Given the description of an element on the screen output the (x, y) to click on. 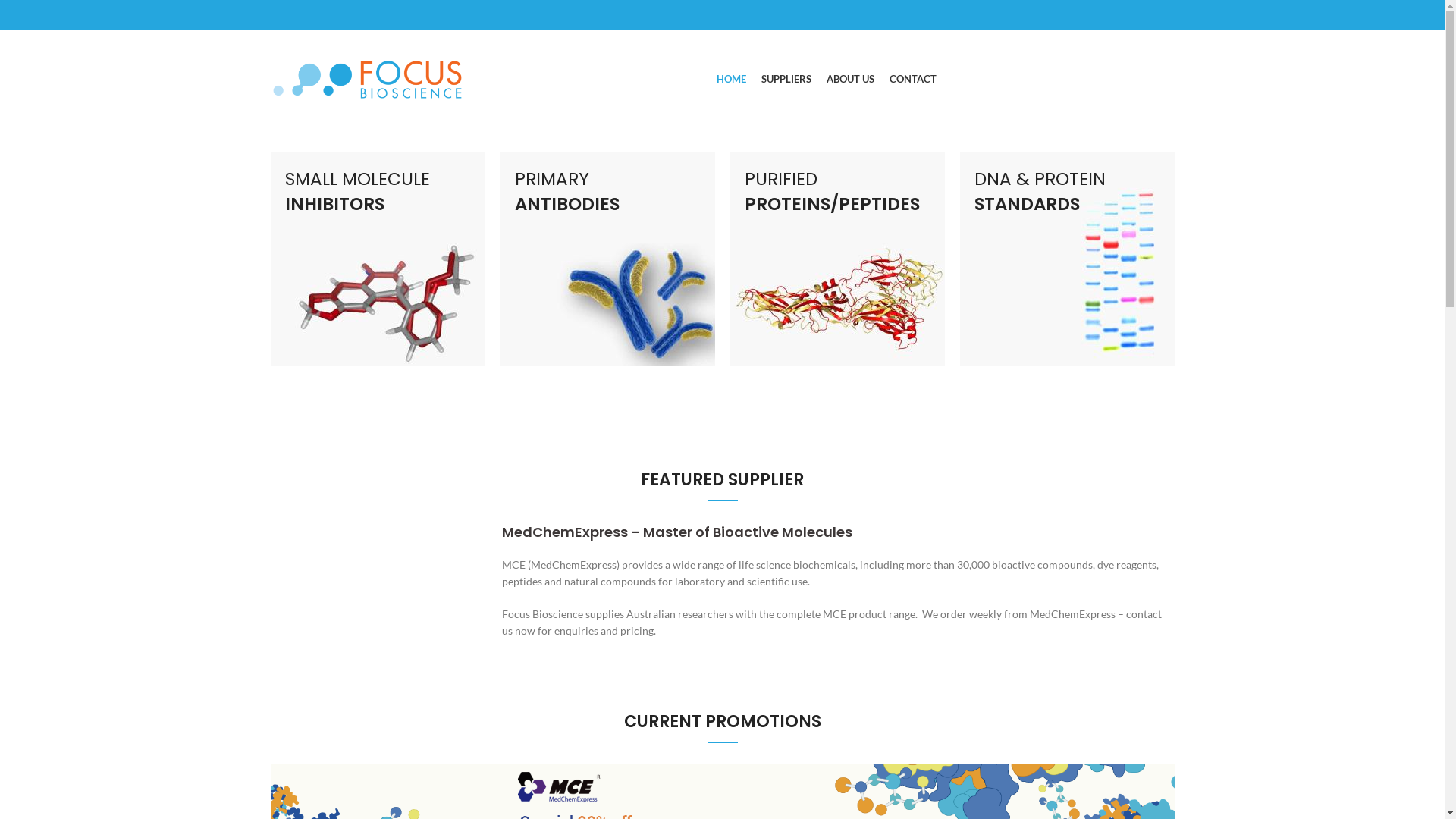
Antibodies-background-image Element type: hover (607, 258)
CONTACT Element type: text (912, 79)
SUPPLIERS Element type: text (786, 79)
DNA & PROTEIN
STANDARDS Element type: text (1067, 258)
Protein standards background image Element type: hover (1067, 258)
small molecule inhibitor background Element type: hover (376, 258)
SMALL MOLECULE
INHIBITORS Element type: text (376, 258)
PRIMARY
ANTIBODIES Element type: text (607, 258)
HOME Element type: text (731, 79)
PURIFIED
PROTEINS/PEPTIDES Element type: text (836, 258)
ABOUT US Element type: text (850, 79)
Purified proteins background image Element type: hover (836, 258)
